Given the description of an element on the screen output the (x, y) to click on. 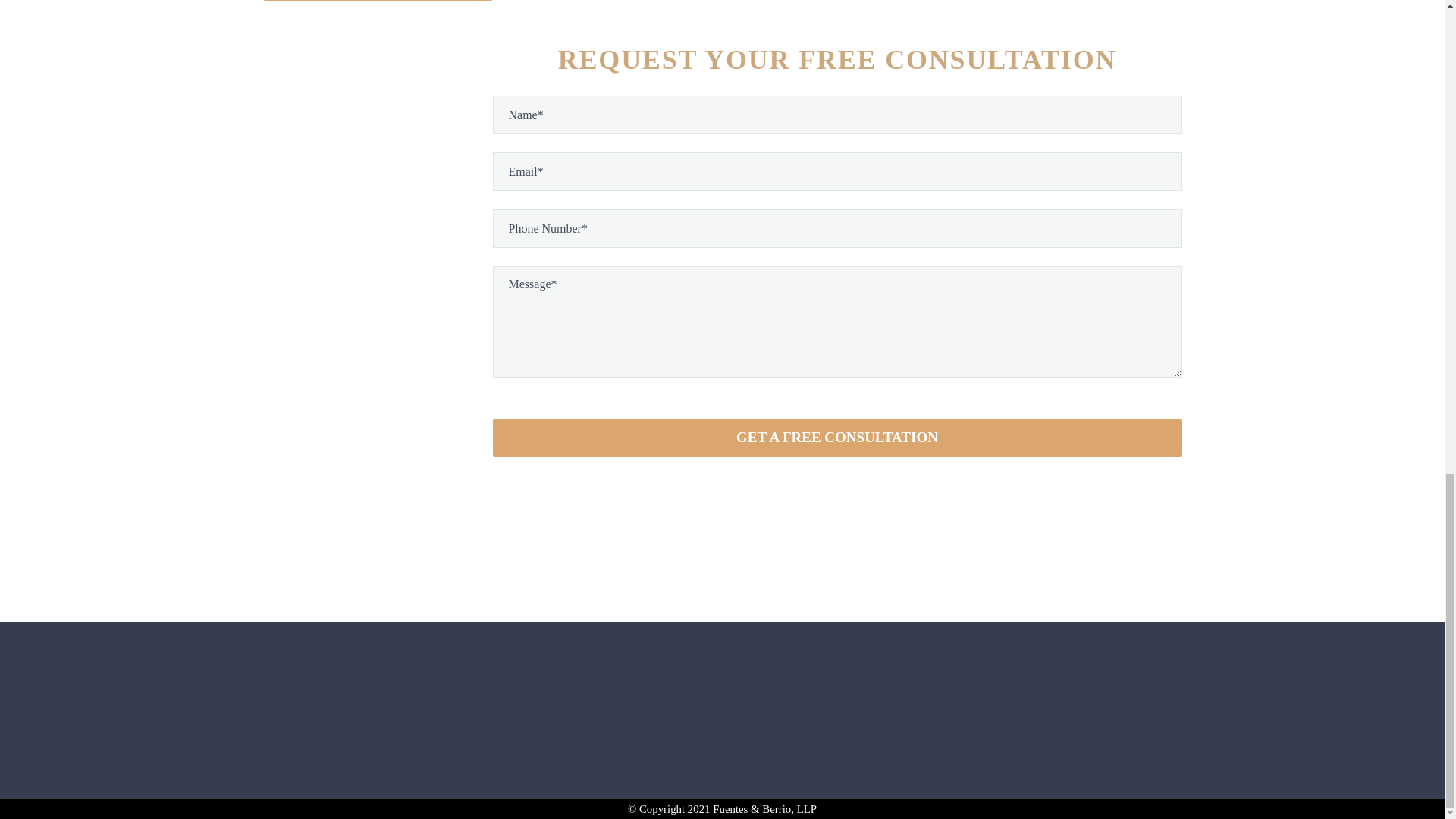
Get A Free Consultation (837, 437)
Get A Free Consultation (837, 437)
